Given the description of an element on the screen output the (x, y) to click on. 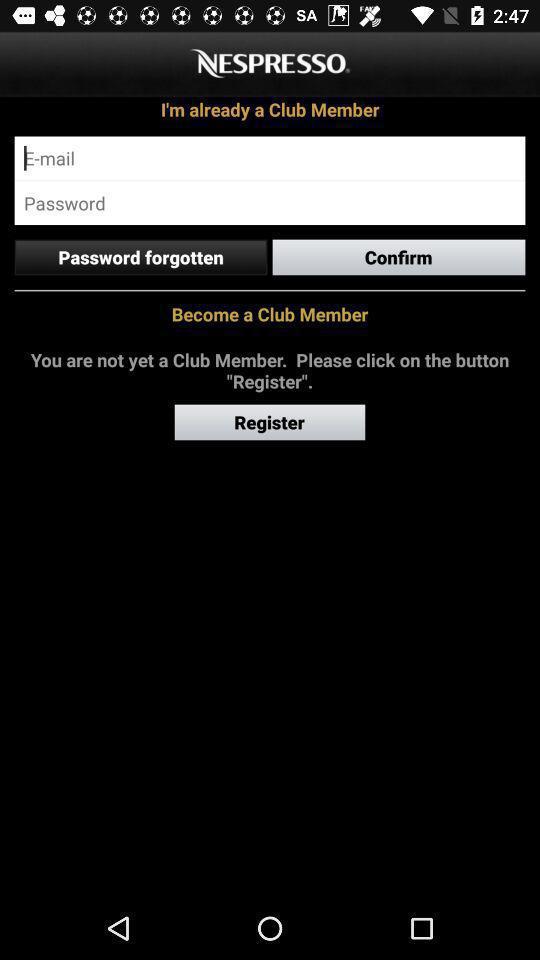
open password forgotten item (140, 257)
